Given the description of an element on the screen output the (x, y) to click on. 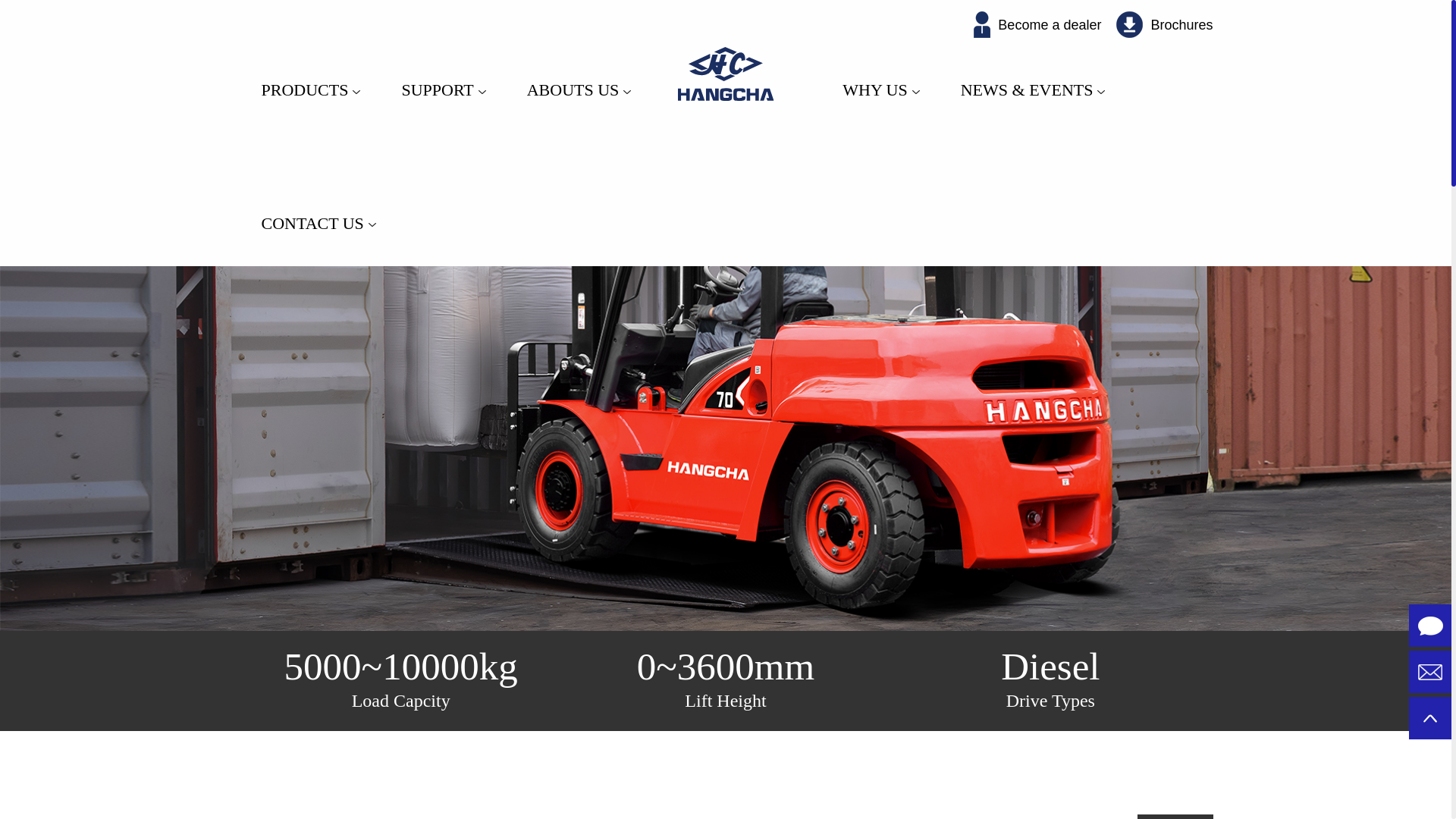
Brochures (1164, 24)
Become a dealer (1037, 24)
WHY US (878, 66)
SUPPORT (441, 66)
CONTACT US (316, 199)
PRODUCTS (309, 66)
ABOUTS US (577, 66)
